Given the description of an element on the screen output the (x, y) to click on. 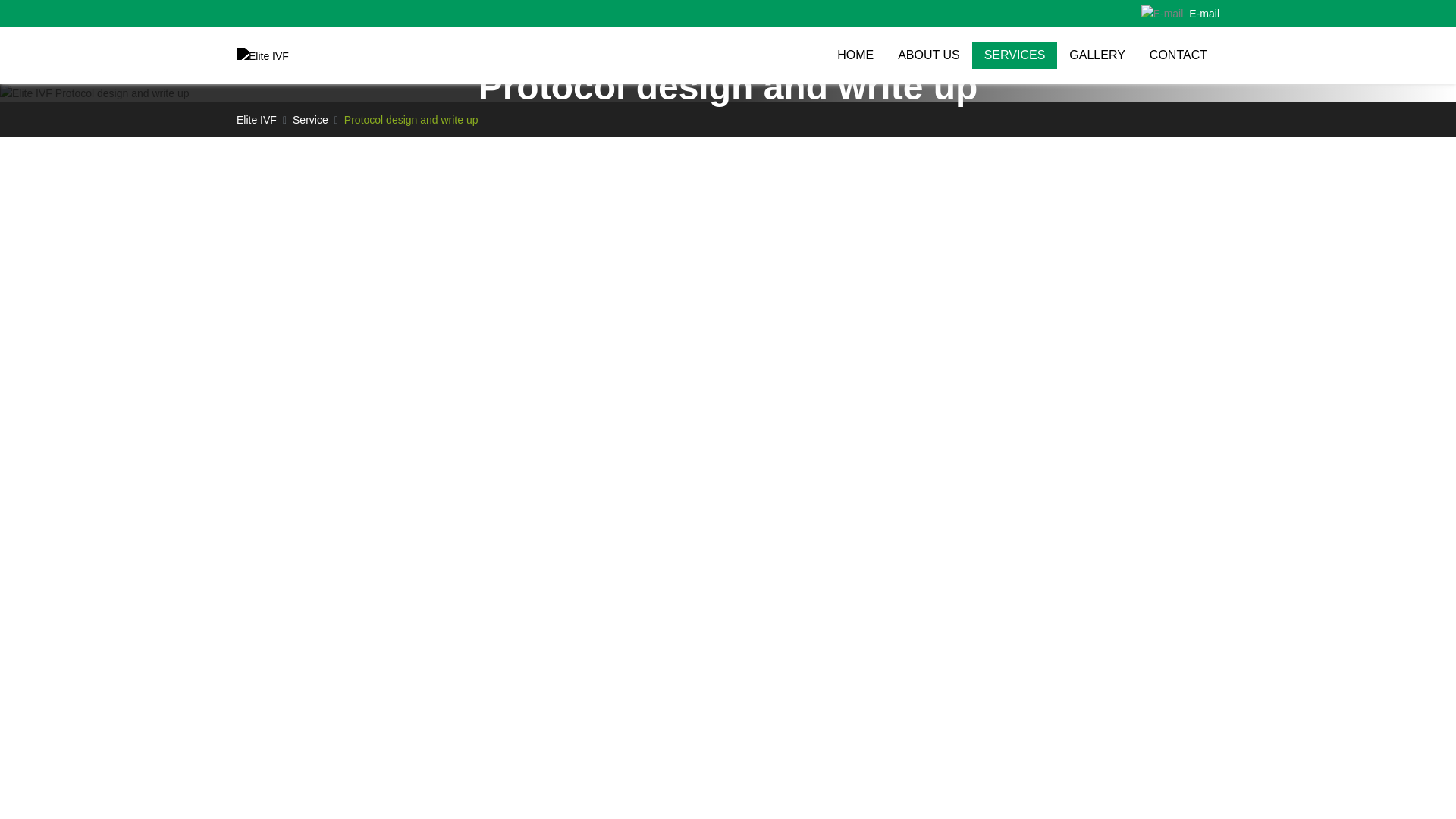
ABOUT US (928, 54)
Elite IVF (255, 119)
CONTACT (1178, 54)
Gallery (1097, 54)
SERVICES (1015, 54)
Elite IVF (255, 119)
Protocol design and write up (411, 119)
Service (310, 119)
Elite IVF Protocol design and write up (94, 93)
HOME (855, 54)
